Given the description of an element on the screen output the (x, y) to click on. 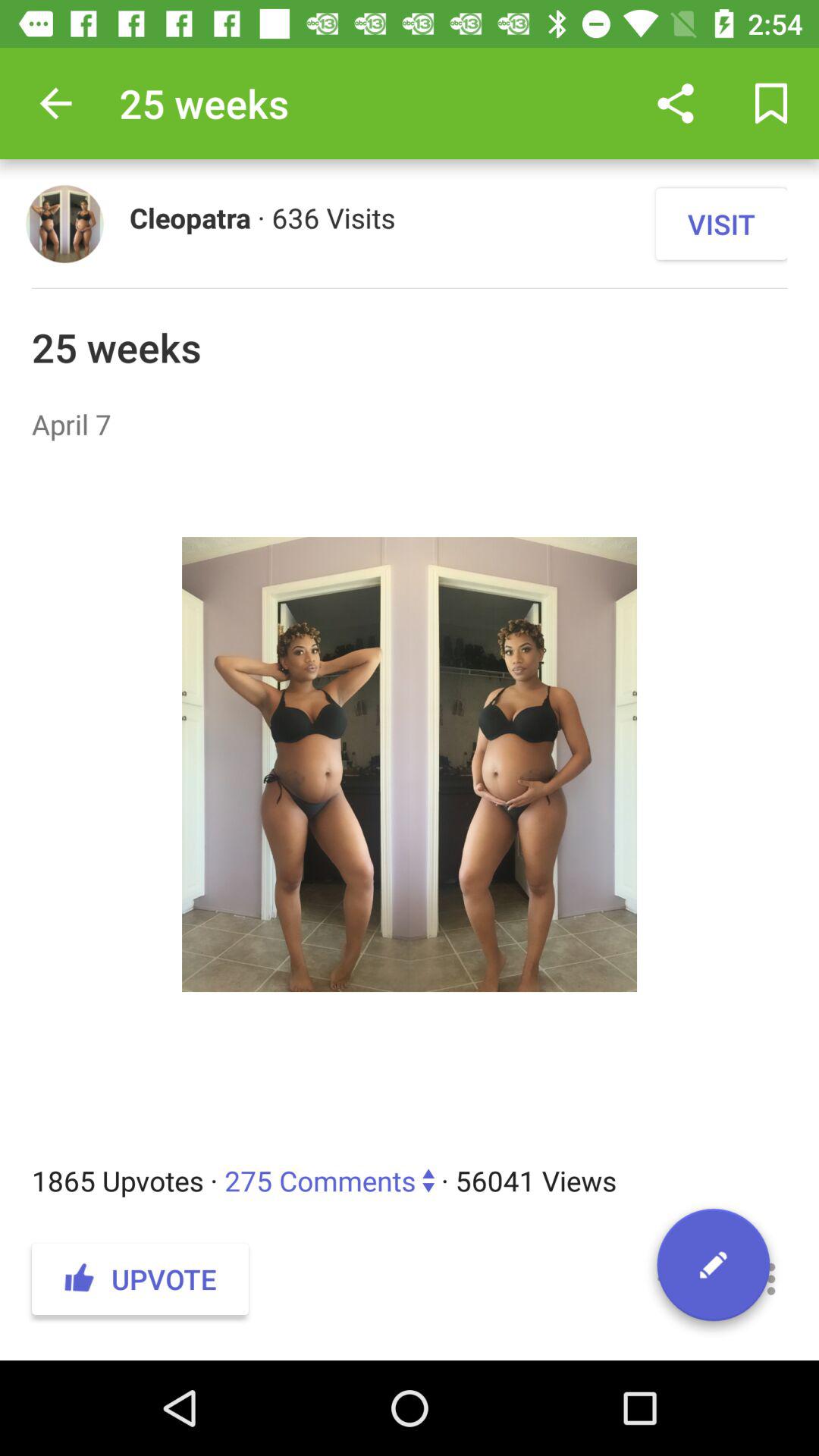
select the icon next to the 25 weeks item (55, 103)
